Given the description of an element on the screen output the (x, y) to click on. 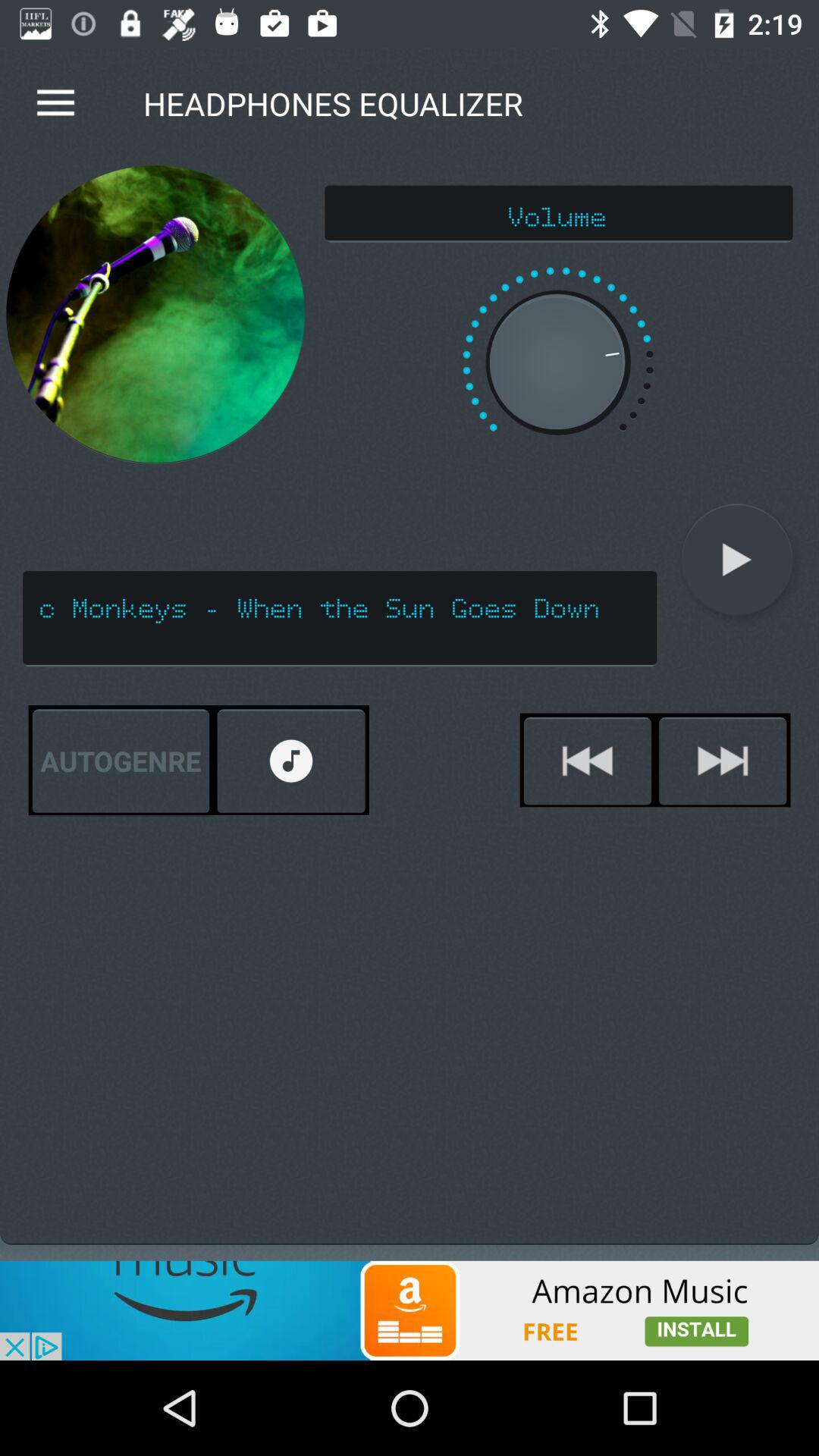
tap icon below the arctic monkeys when item (587, 760)
